Given the description of an element on the screen output the (x, y) to click on. 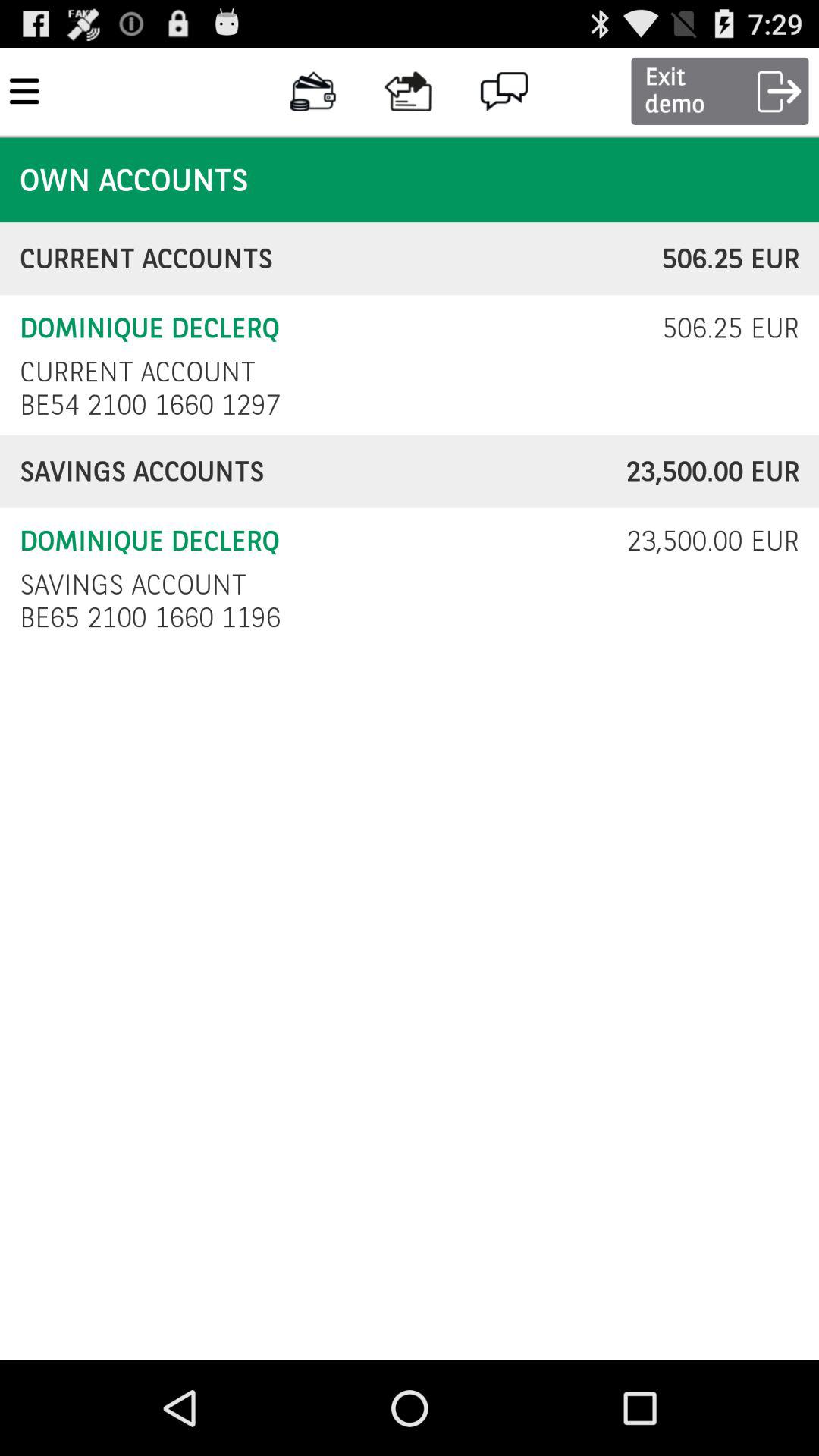
choose icon next to the 506.25 eur (137, 371)
